Given the description of an element on the screen output the (x, y) to click on. 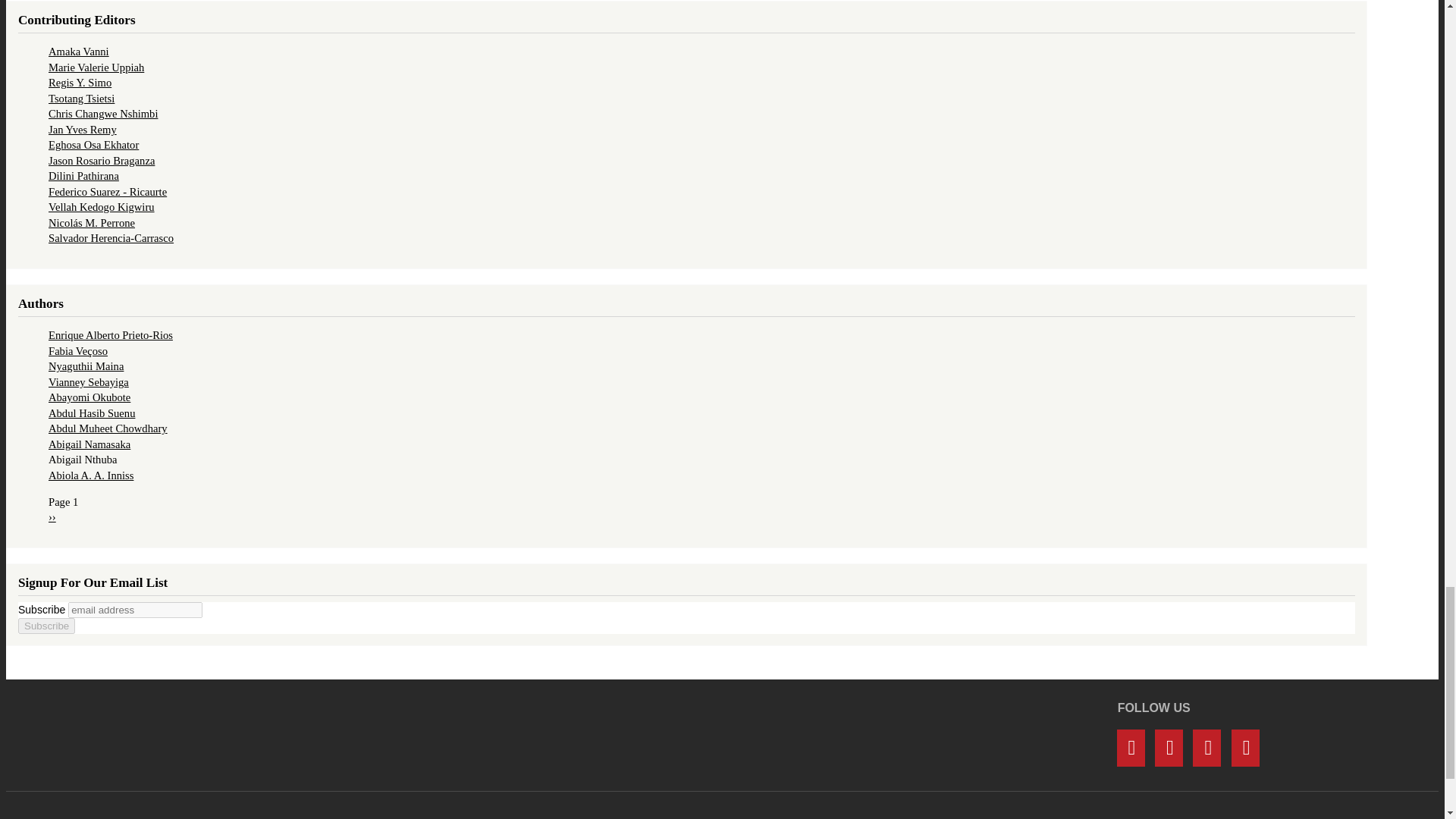
Subscribe (46, 625)
